Given the description of an element on the screen output the (x, y) to click on. 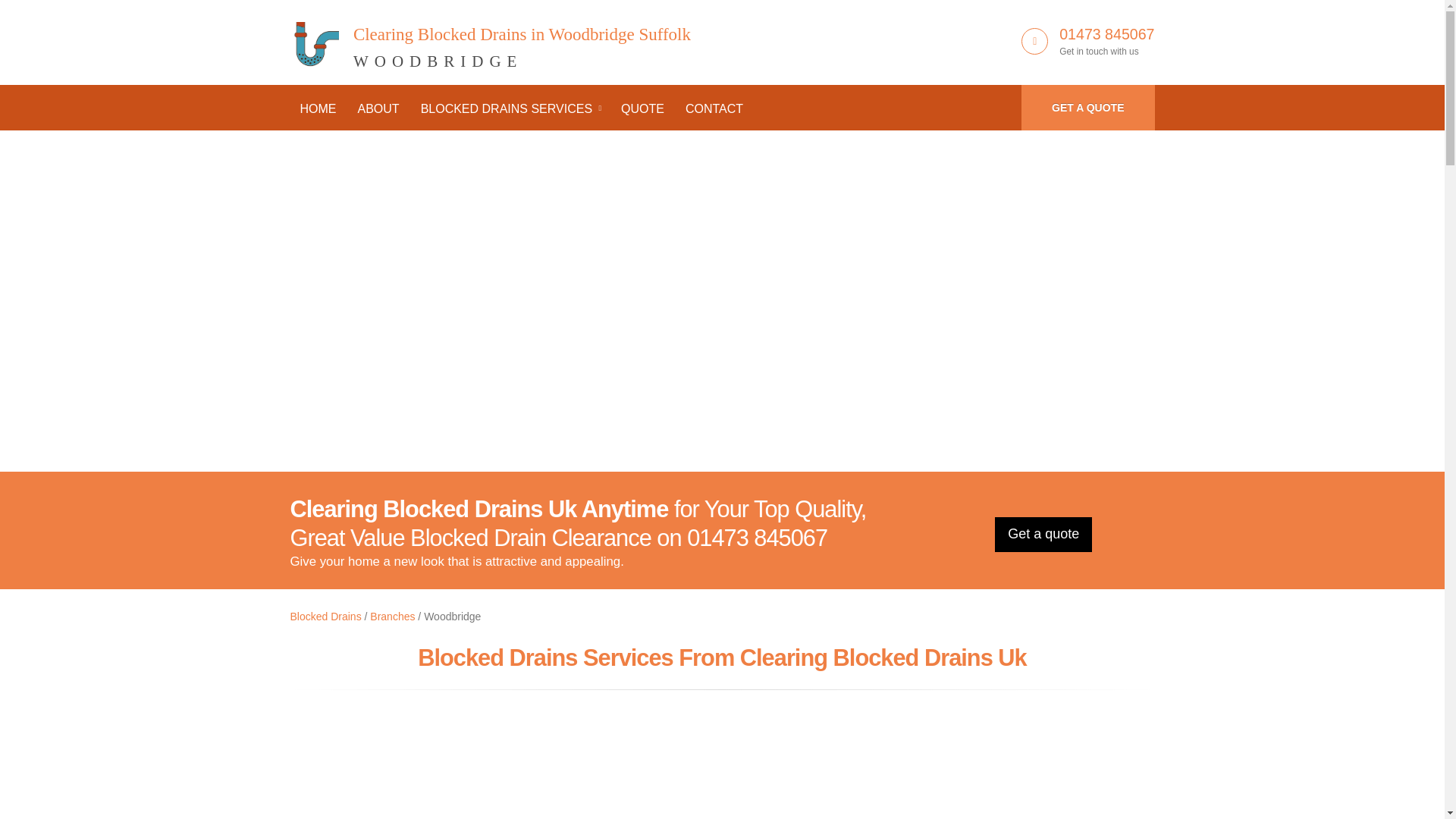
Get a quote (1043, 534)
Branches (391, 616)
01473 845067 (1106, 33)
BLOCKED DRAINS SERVICES (510, 109)
Blocked Drains (325, 616)
HOME (317, 109)
ABOUT (378, 109)
QUOTE (642, 109)
GET A QUOTE (489, 38)
CONTACT (1088, 107)
